Given the description of an element on the screen output the (x, y) to click on. 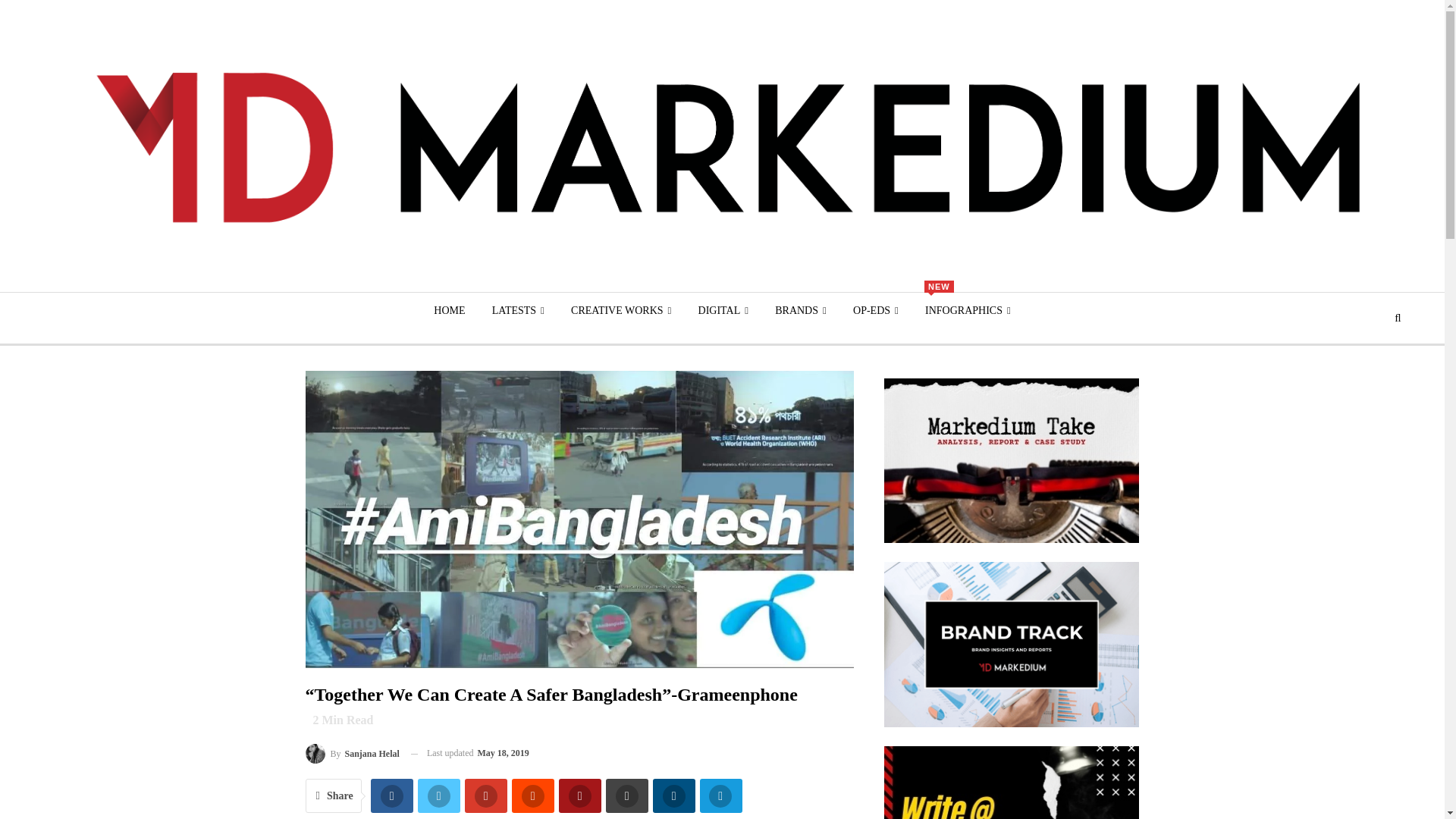
CREATIVE WORKS (620, 310)
DIGITAL (722, 310)
LATESTS (518, 310)
HOME (449, 310)
